Given the description of an element on the screen output the (x, y) to click on. 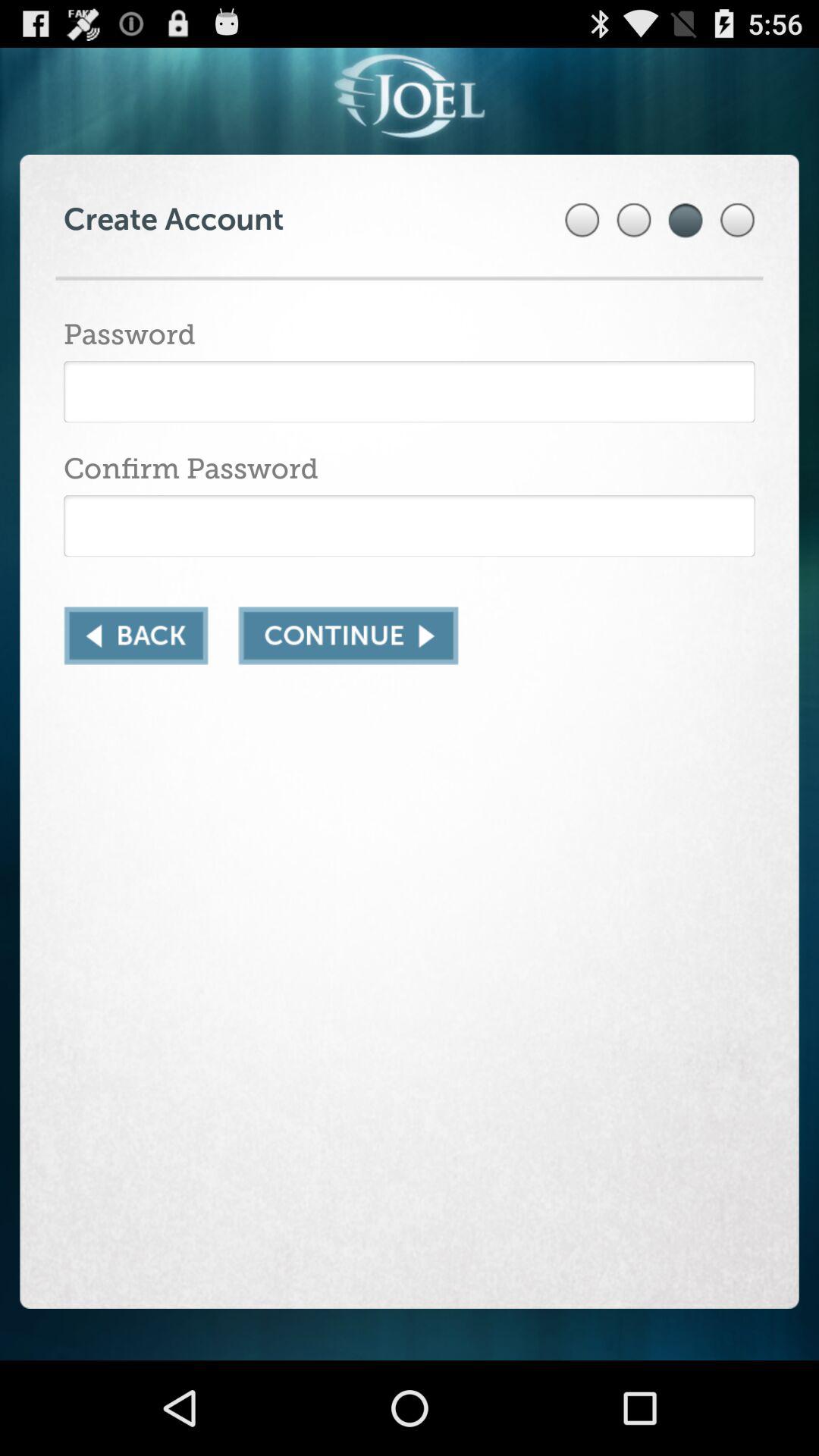
to go back/return (135, 635)
